Given the description of an element on the screen output the (x, y) to click on. 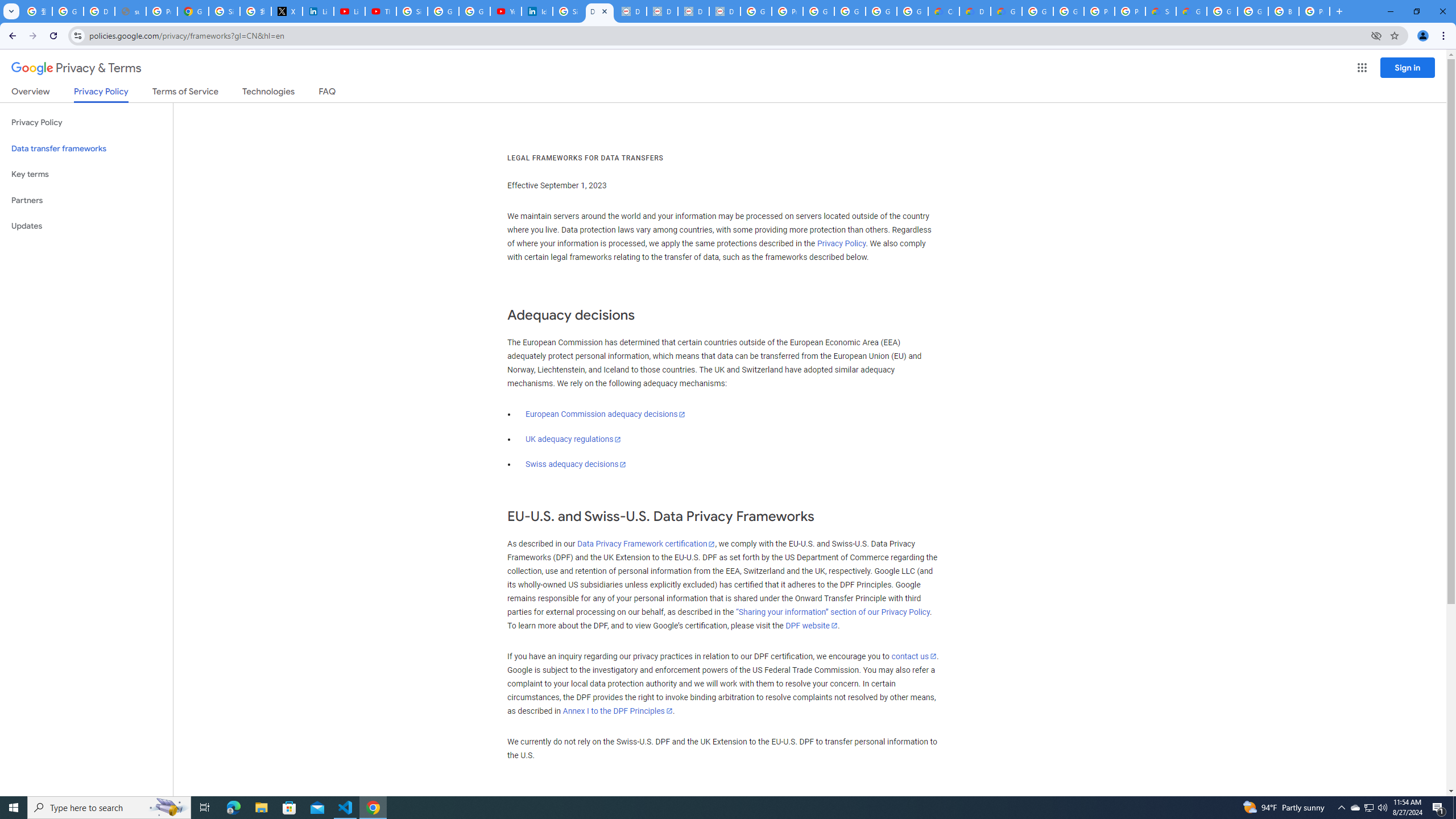
Privacy Help Center - Policies Help (161, 11)
DPF website (810, 625)
Sign in - Google Accounts (411, 11)
